Given the description of an element on the screen output the (x, y) to click on. 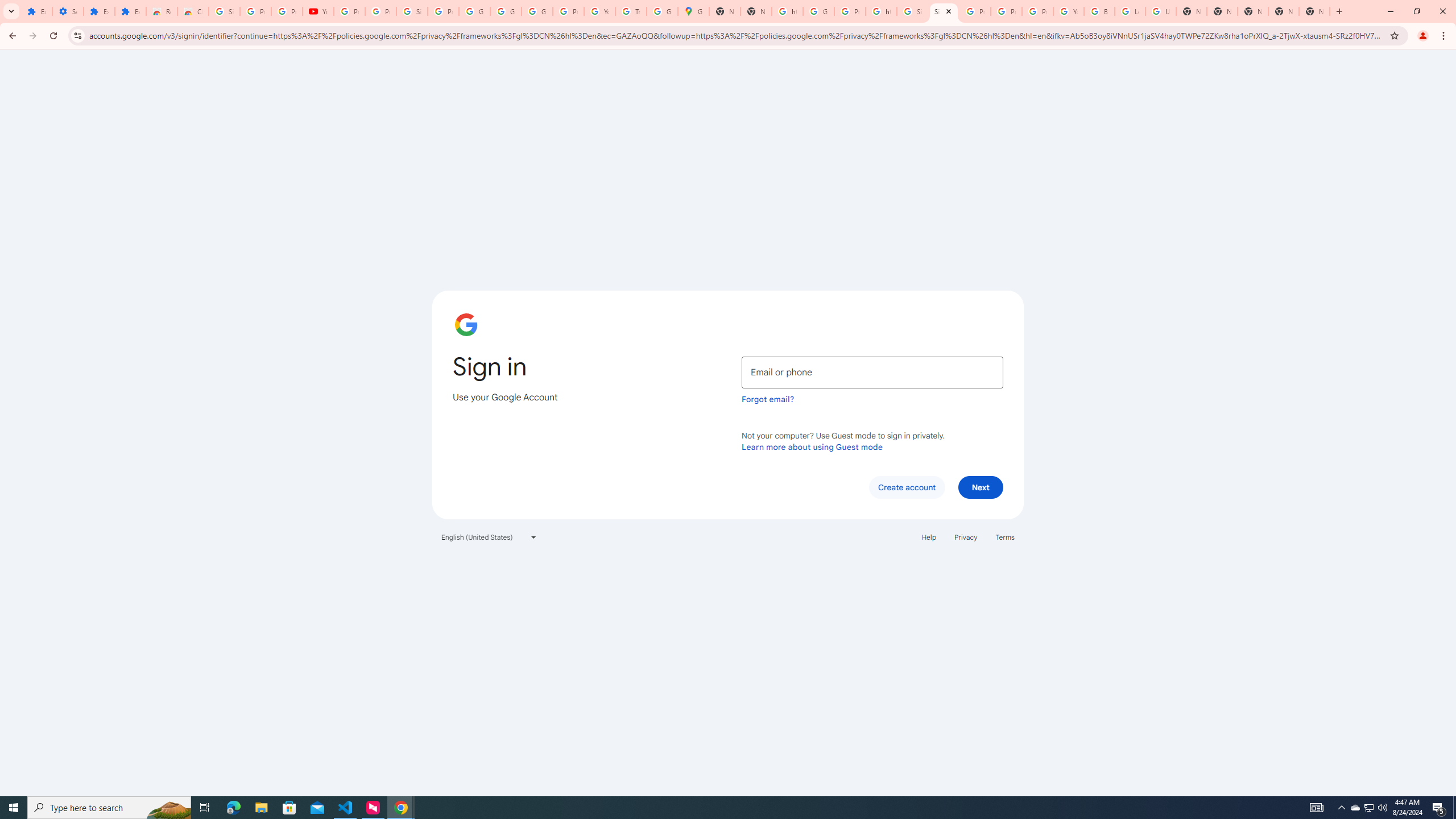
Sign in - Google Accounts (943, 11)
Extensions (130, 11)
Create account (905, 486)
